Given the description of an element on the screen output the (x, y) to click on. 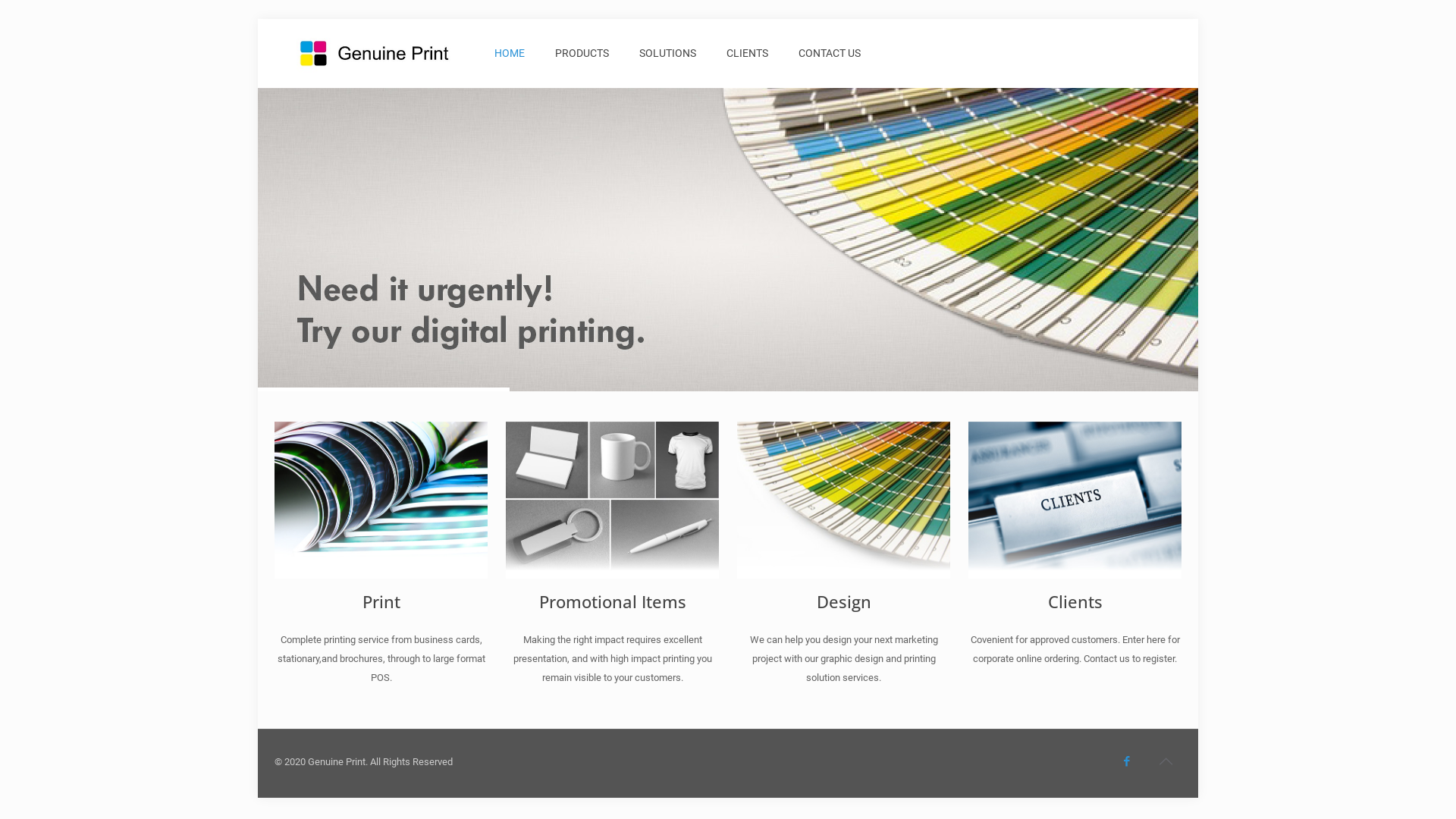
SOLUTIONS Element type: text (667, 52)
Genuine Print Element type: hover (372, 52)
CLIENTS Element type: text (747, 52)
PRODUCTS Element type: text (581, 52)
Facebook Element type: hover (1126, 761)
HOME Element type: text (509, 52)
CONTACT US Element type: text (829, 52)
